Given the description of an element on the screen output the (x, y) to click on. 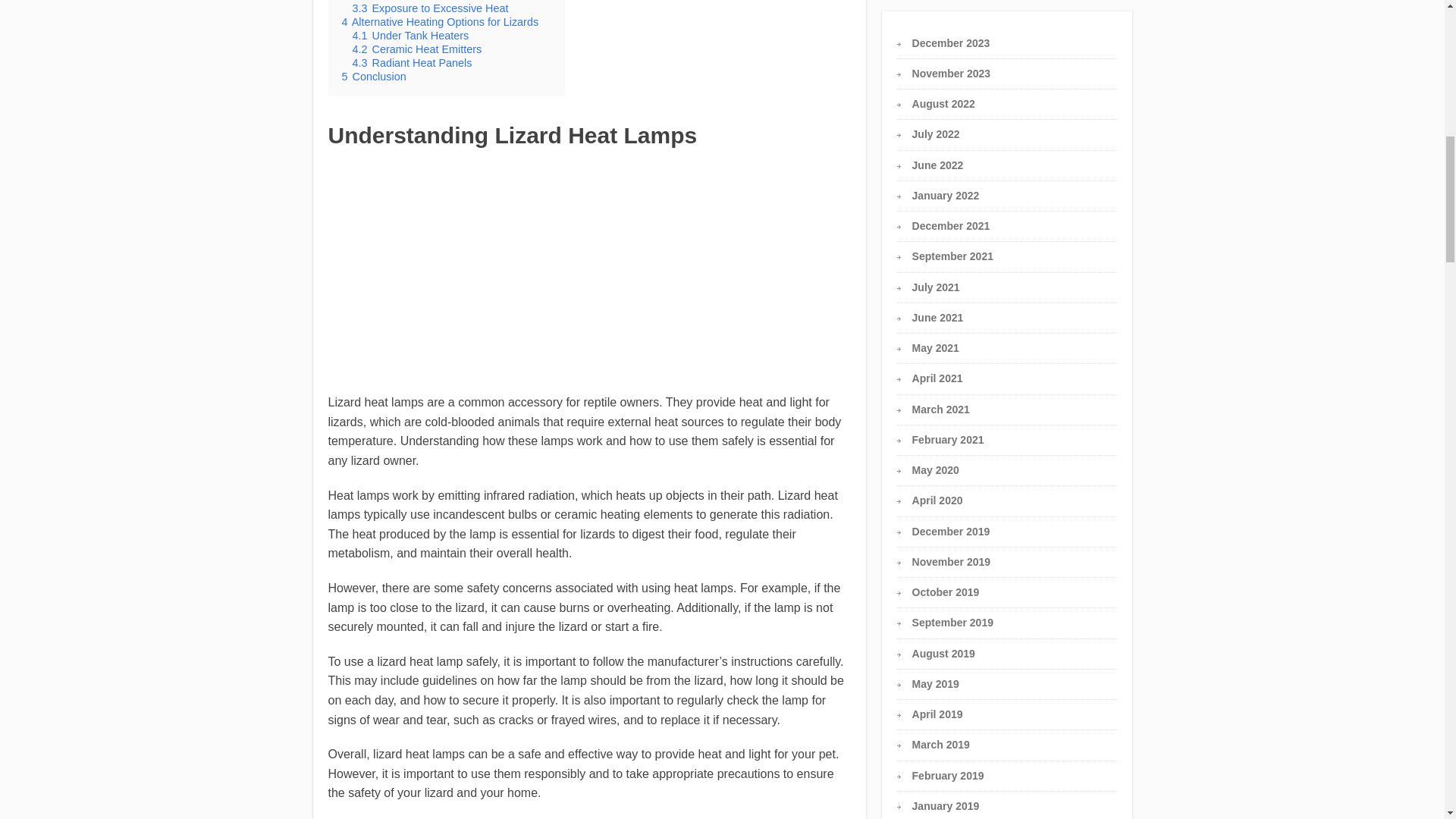
4.1 Under Tank Heaters (410, 35)
4.2 Ceramic Heat Emitters (416, 49)
4.3 Radiant Heat Panels (411, 62)
5 Conclusion (373, 76)
3.3 Exposure to Excessive Heat (430, 8)
4 Alternative Heating Options for Lizards (439, 21)
